Given the description of an element on the screen output the (x, y) to click on. 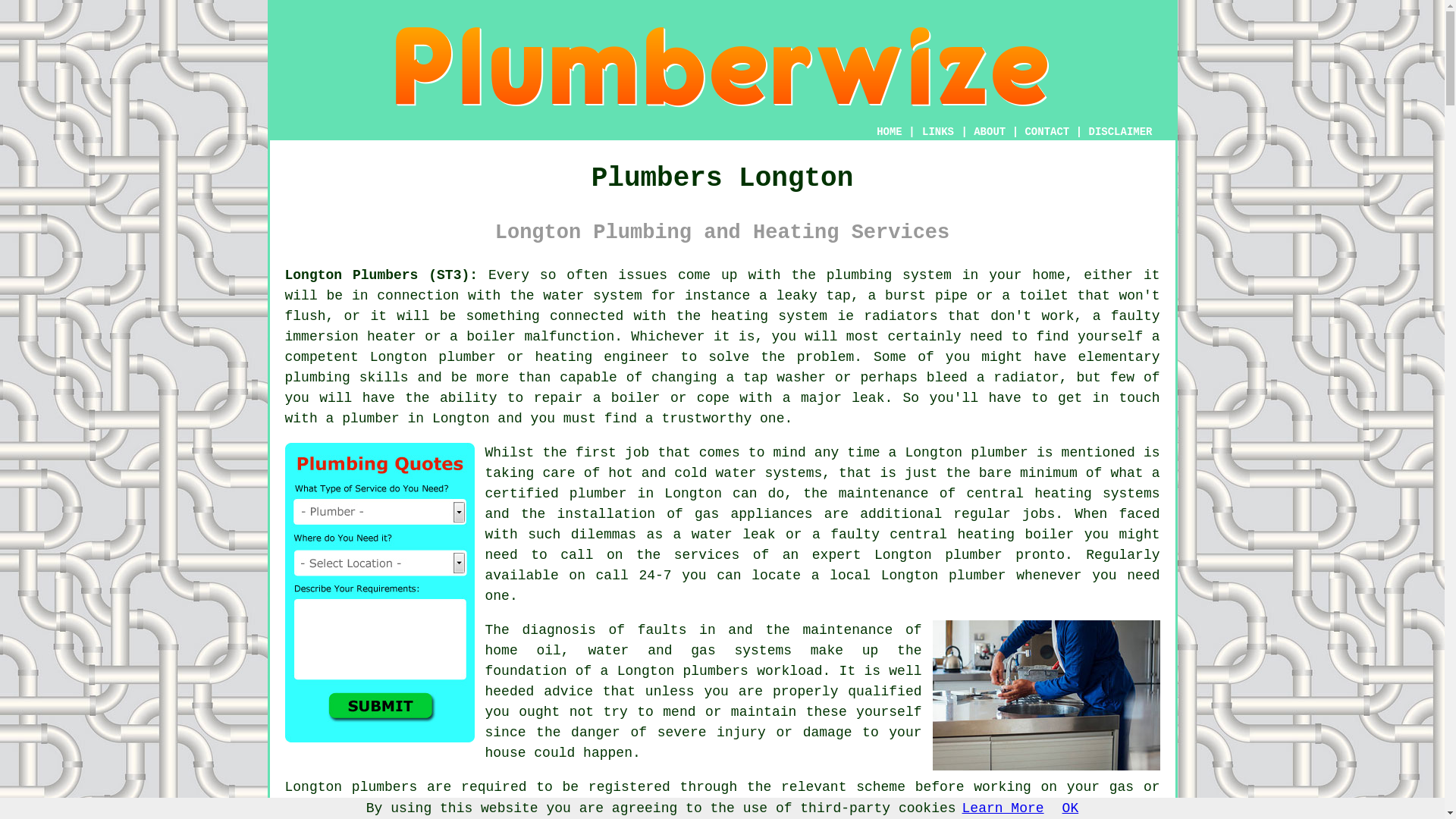
Plumber Longton Staffordshire ST3 (1046, 694)
plumbers (715, 670)
LINKS (938, 131)
HOME (889, 132)
plumber (467, 356)
plumber (370, 418)
